Given the description of an element on the screen output the (x, y) to click on. 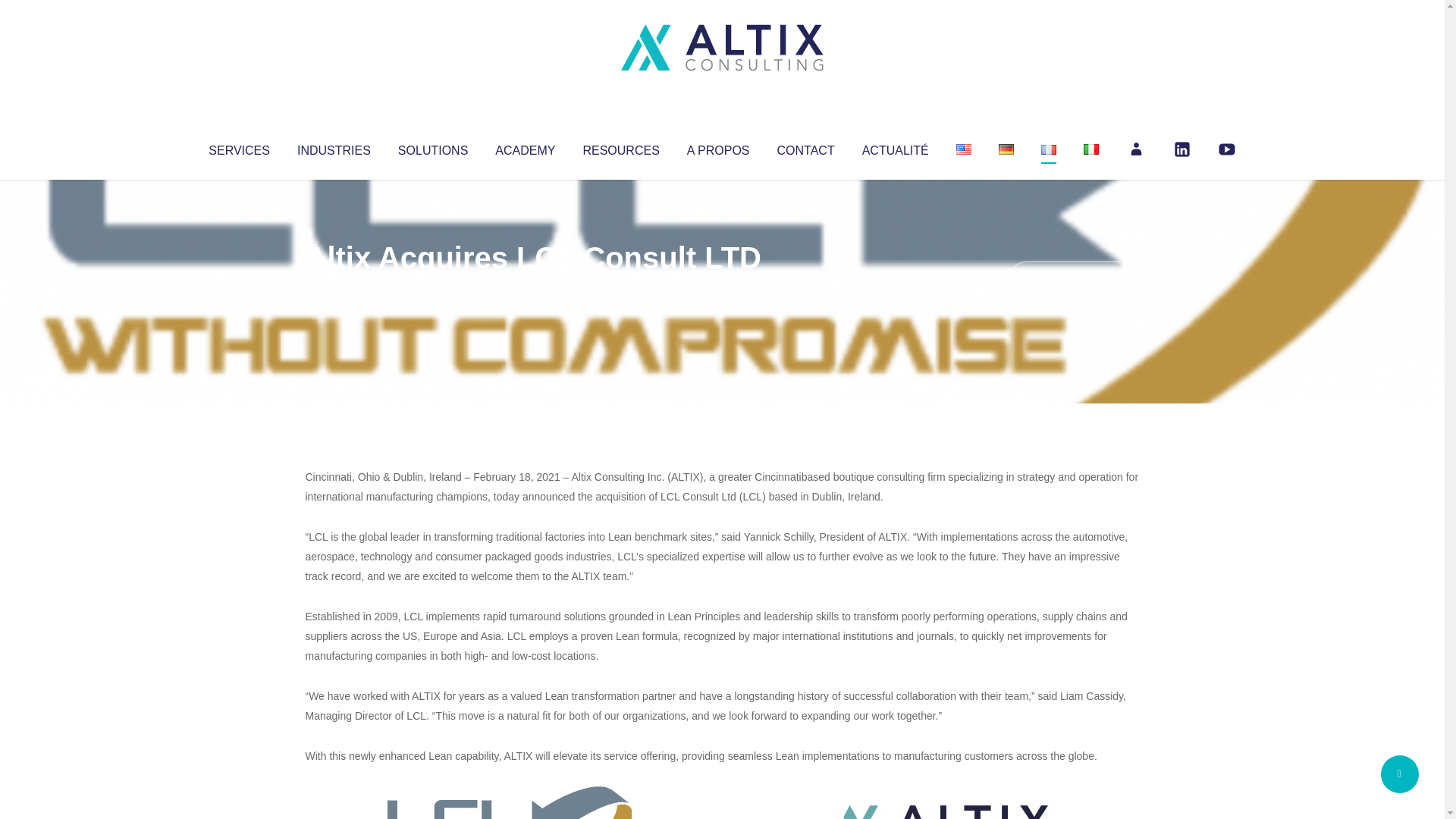
Uncategorized (530, 287)
Altix (333, 287)
INDUSTRIES (334, 146)
SOLUTIONS (432, 146)
RESOURCES (620, 146)
No Comments (1073, 278)
ACADEMY (524, 146)
A PROPOS (718, 146)
SERVICES (238, 146)
Articles par Altix (333, 287)
